Given the description of an element on the screen output the (x, y) to click on. 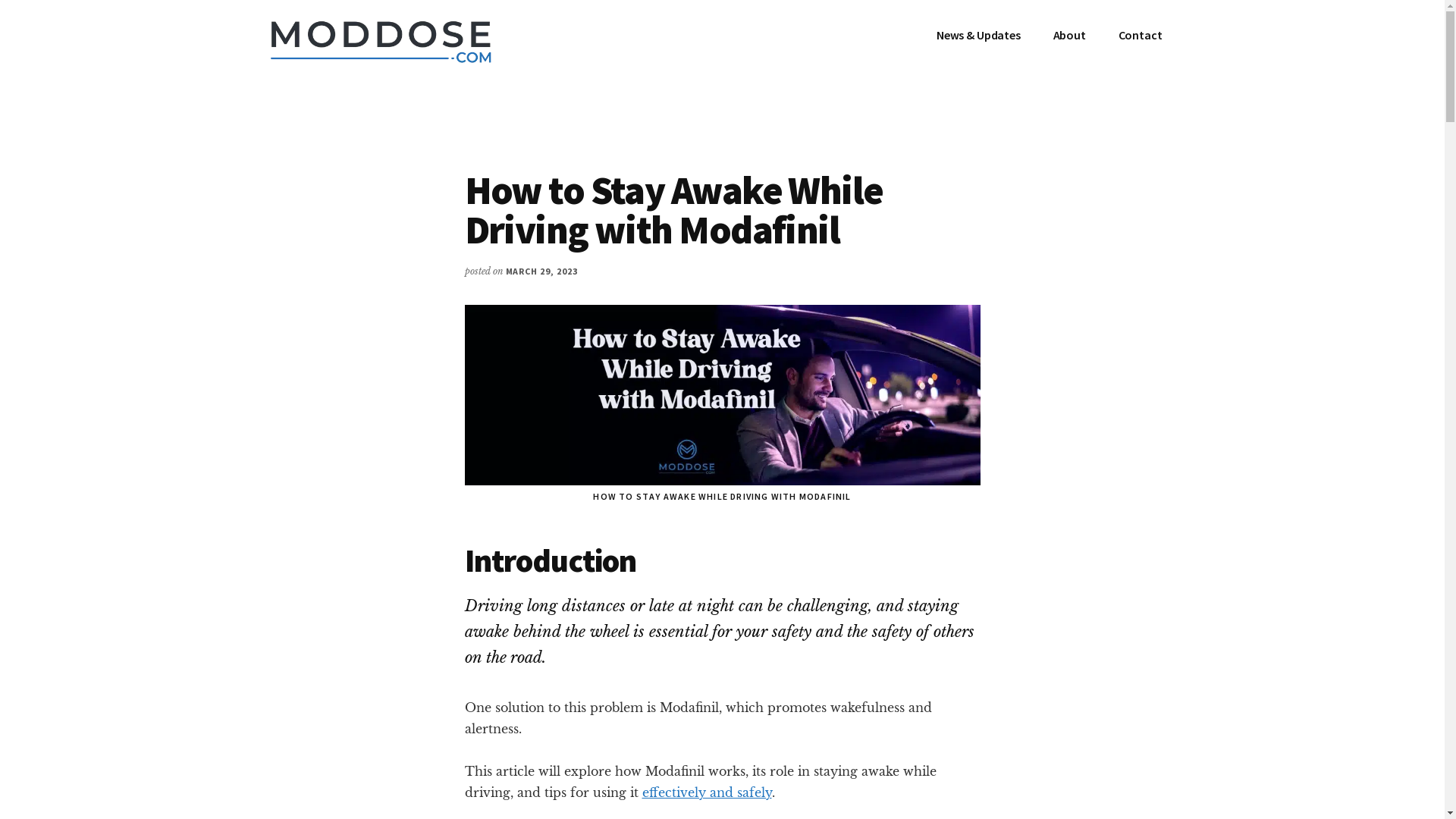
About Element type: text (1069, 34)
effectively and safely Element type: text (706, 792)
How to Stay Awake While Driving with Modafinil 1 Element type: hover (721, 394)
Contact Element type: text (1140, 34)
News & Updates Element type: text (978, 34)
Skip to main content Element type: text (0, 0)
